Given the description of an element on the screen output the (x, y) to click on. 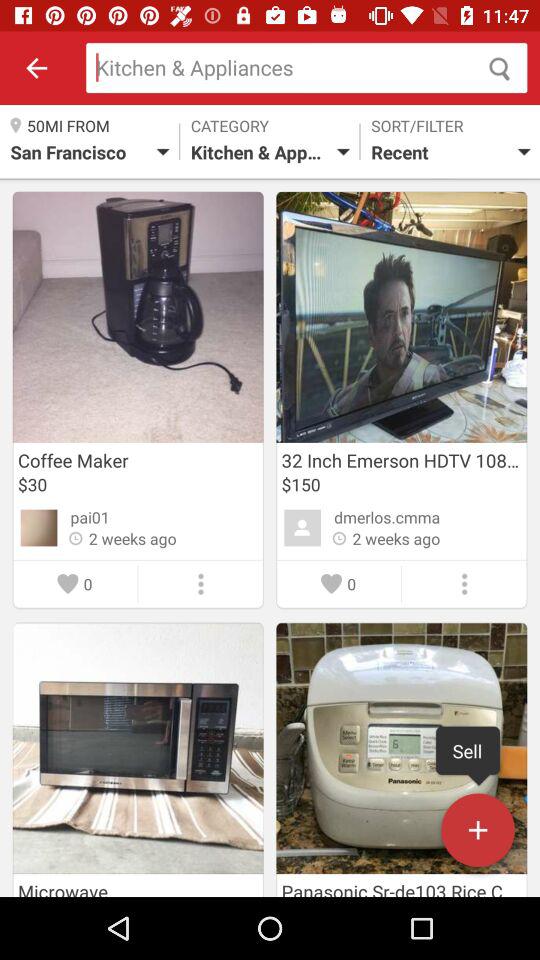
search tab (306, 67)
